Given the description of an element on the screen output the (x, y) to click on. 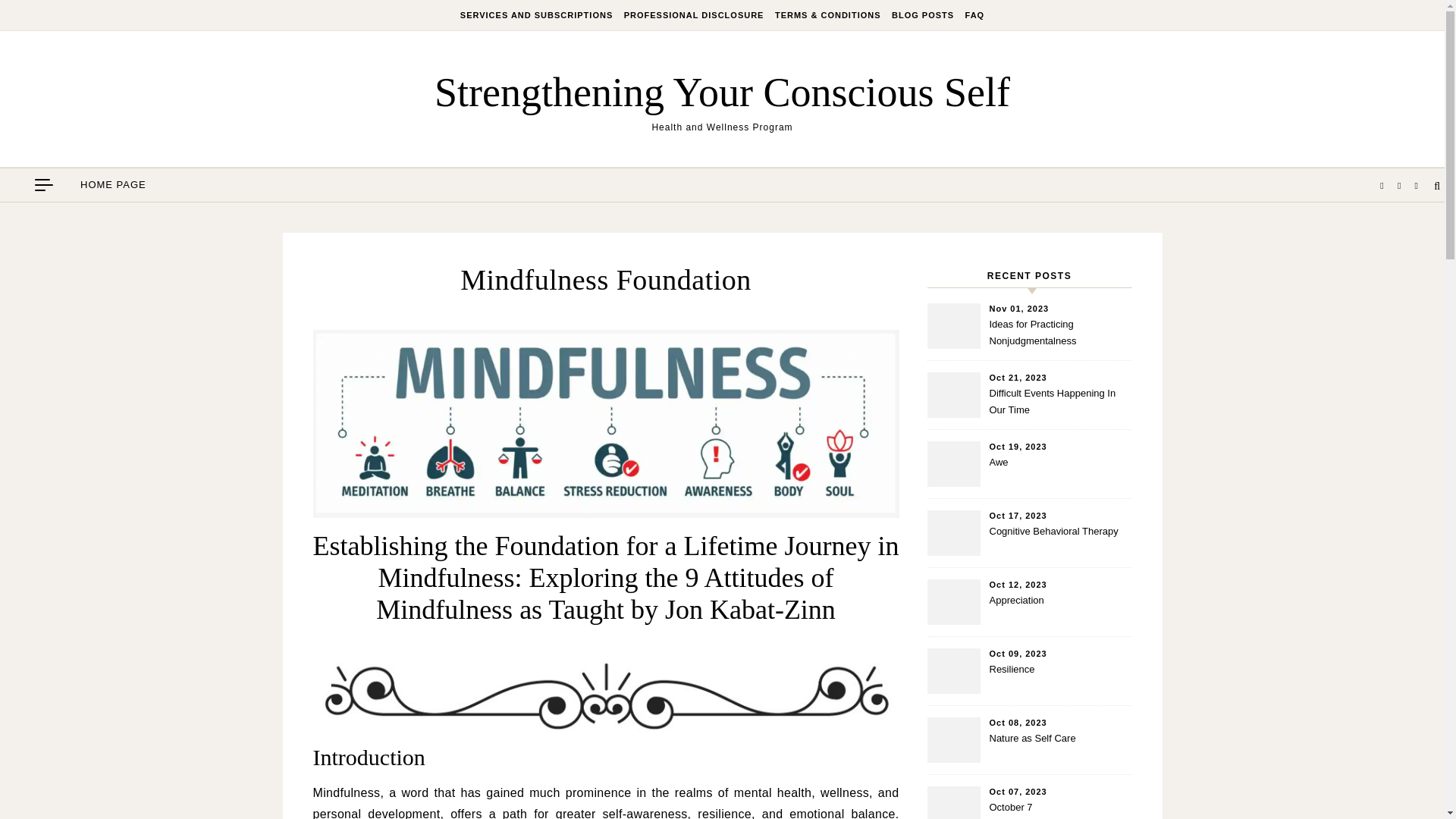
Resilience (1058, 678)
HOME PAGE (113, 184)
Ideas for Practicing Nonjudgmentalness (1058, 333)
Awe (1058, 471)
PROFESSIONAL DISCLOSURE (694, 15)
SERVICES AND SUBSCRIPTIONS (537, 15)
Difficult Events Happening In Our Time (1058, 402)
October 7 (1058, 809)
BLOG POSTS (923, 15)
Strengthening Your Conscious Self (722, 91)
Appreciation (1058, 609)
Cognitive Behavioral Therapy (1058, 540)
Nature as Self Care (1058, 747)
